Given the description of an element on the screen output the (x, y) to click on. 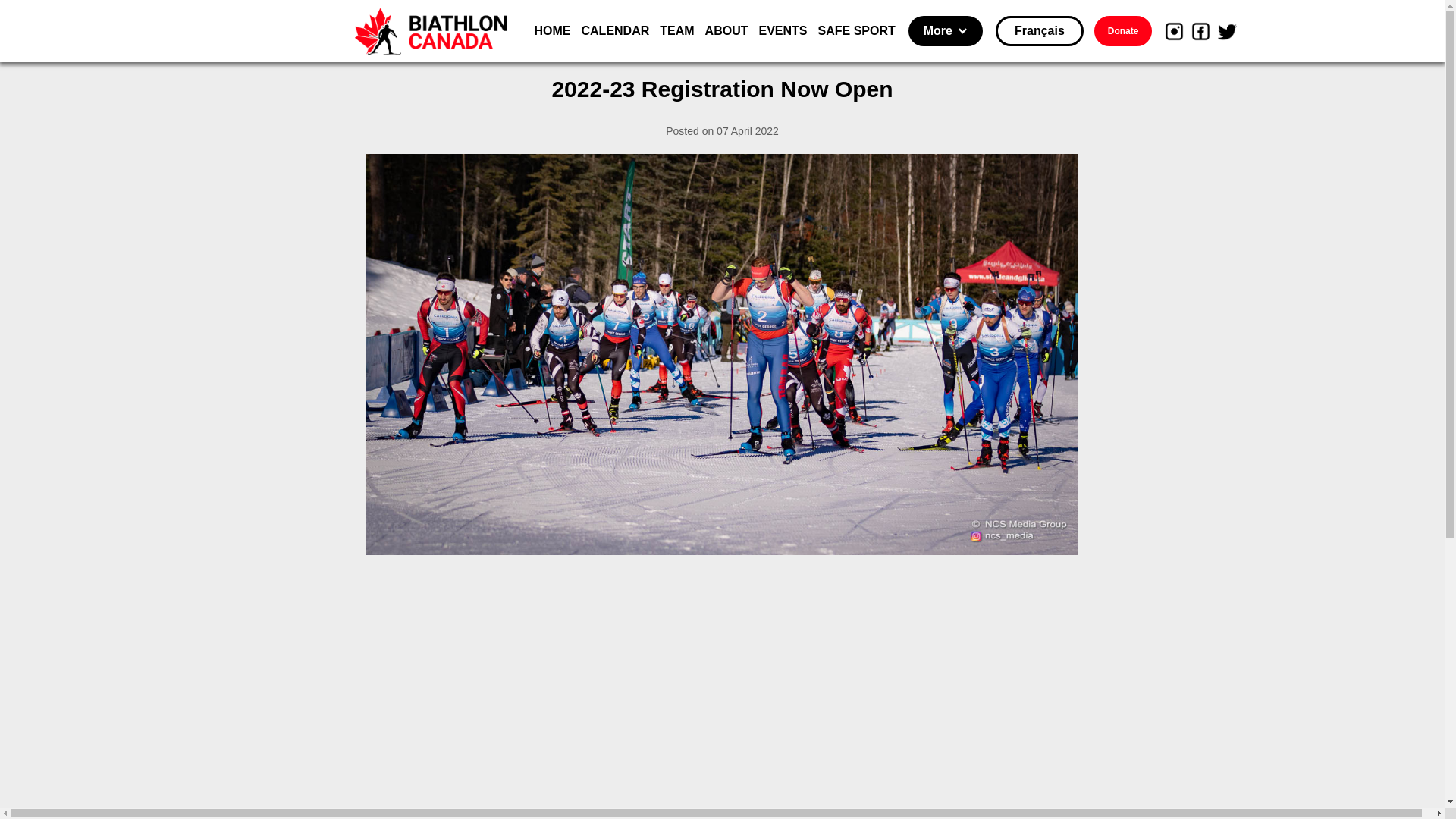
Donate Element type: text (1123, 30)
CALENDAR Element type: text (614, 30)
TEAM Element type: text (676, 30)
EVENTS Element type: text (782, 30)
ABOUT Element type: text (726, 30)
HOME Element type: text (551, 30)
SAFE SPORT Element type: text (856, 30)
